Given the description of an element on the screen output the (x, y) to click on. 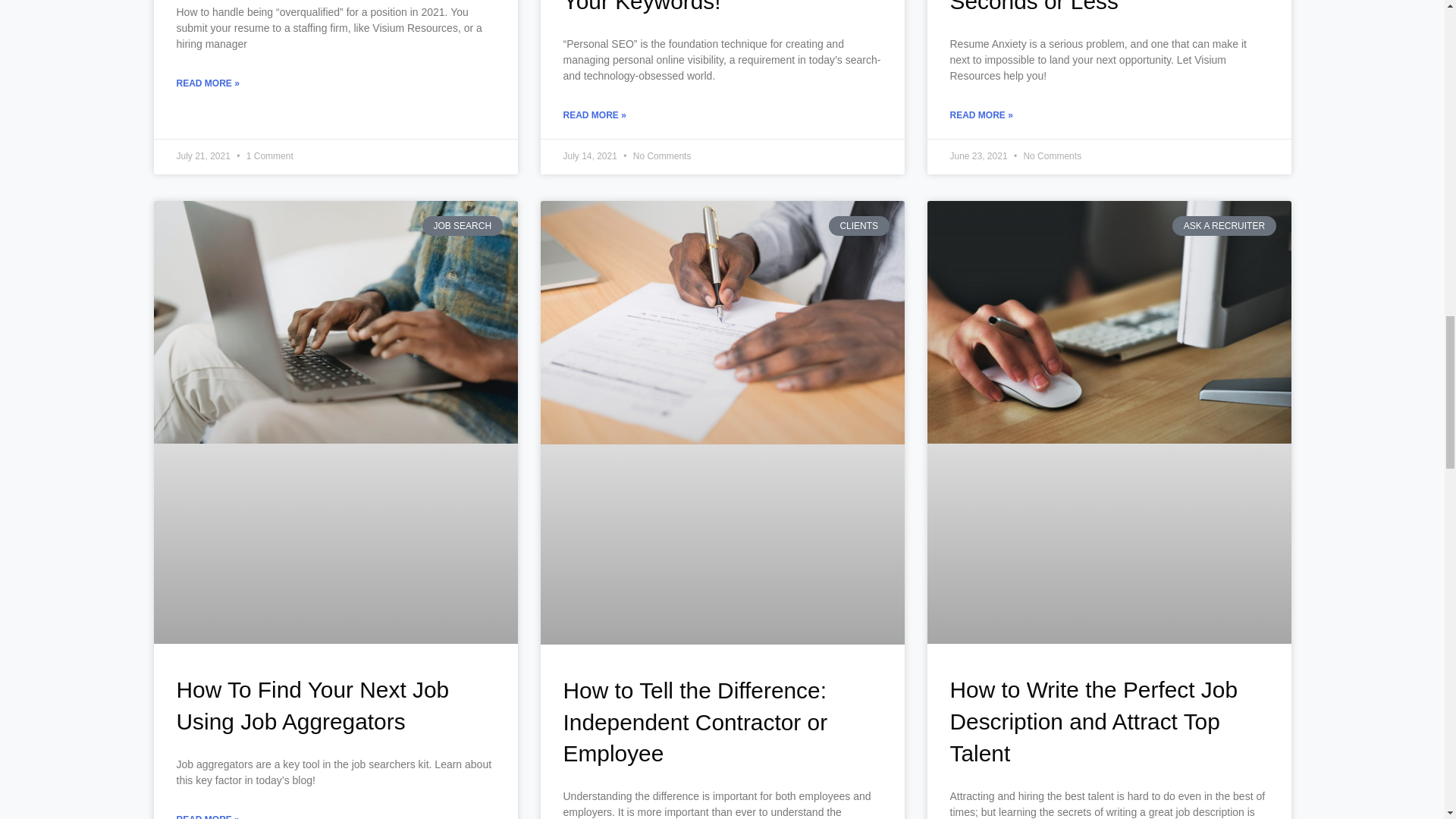
How To Find Your Next Job Using Job Aggregators (312, 705)
How to Get the Interview in 6 Seconds or Less (1094, 6)
What is Personal SEO? Know Your Keywords! (712, 6)
